Given the description of an element on the screen output the (x, y) to click on. 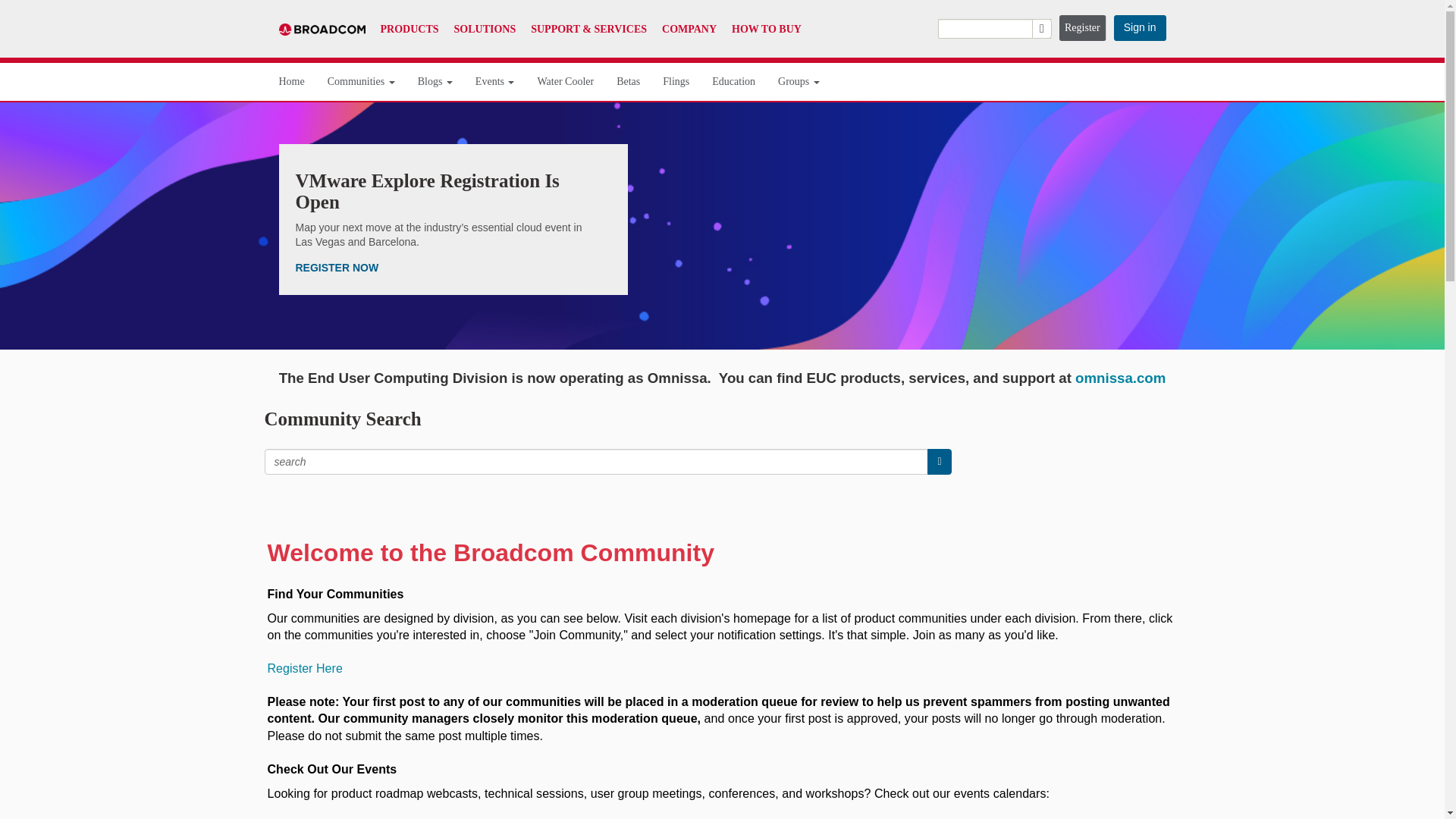
search (994, 28)
search (938, 461)
search term input (595, 461)
Blogs (434, 81)
SOLUTIONS (485, 29)
Communities (360, 81)
HOW TO BUY (767, 29)
COMPANY (689, 29)
Events (495, 81)
Water Cooler (565, 81)
Register (1082, 27)
PRODUCTS (409, 29)
Sign in (1139, 27)
Home (291, 81)
